Given the description of an element on the screen output the (x, y) to click on. 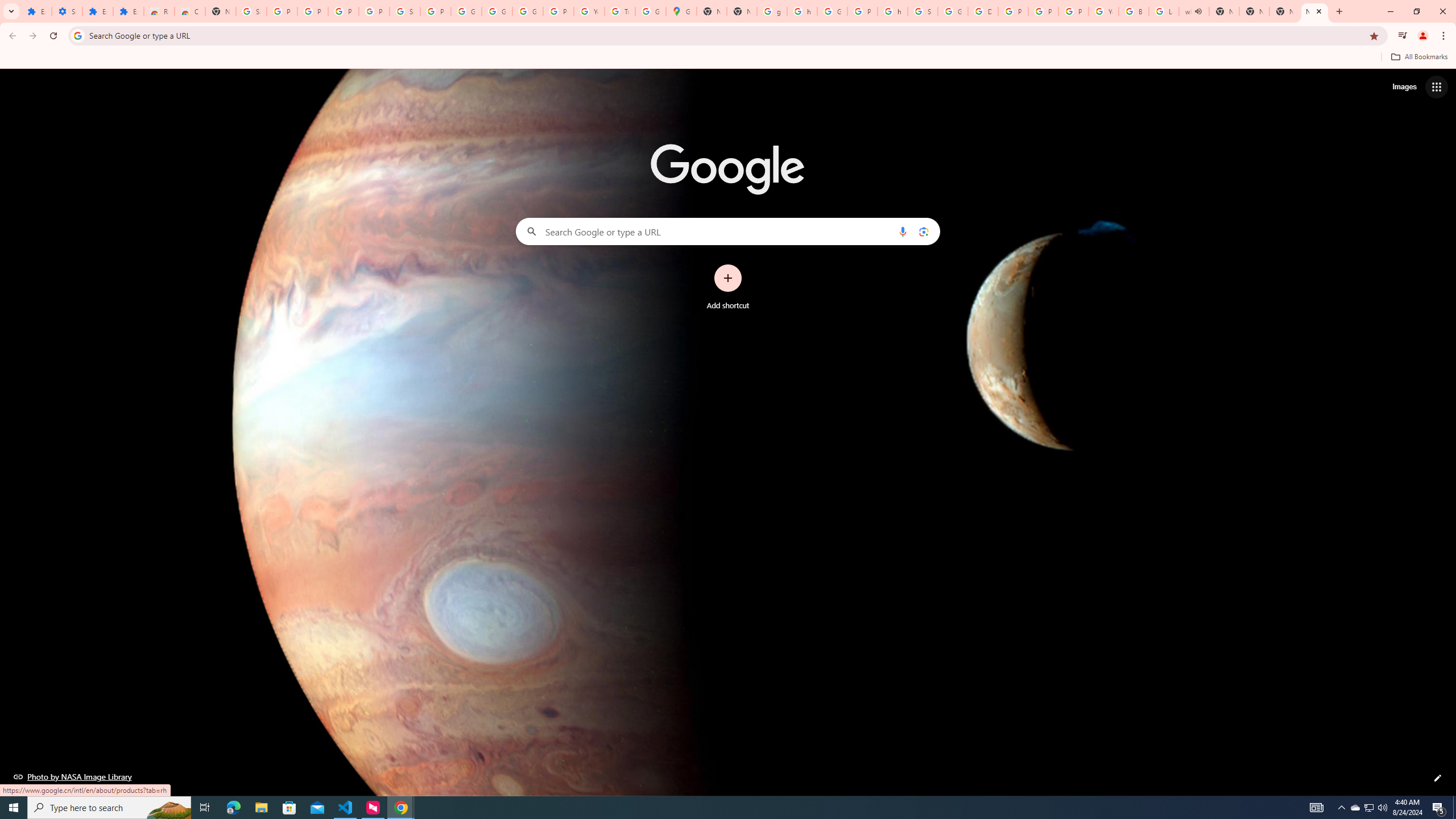
New Tab (1314, 11)
https://scholar.google.com/ (892, 11)
Privacy Help Center - Policies Help (1042, 11)
Google Maps (681, 11)
Search Google or type a URL (727, 230)
YouTube (589, 11)
Sign in - Google Accounts (922, 11)
Sign in - Google Accounts (404, 11)
